Given the description of an element on the screen output the (x, y) to click on. 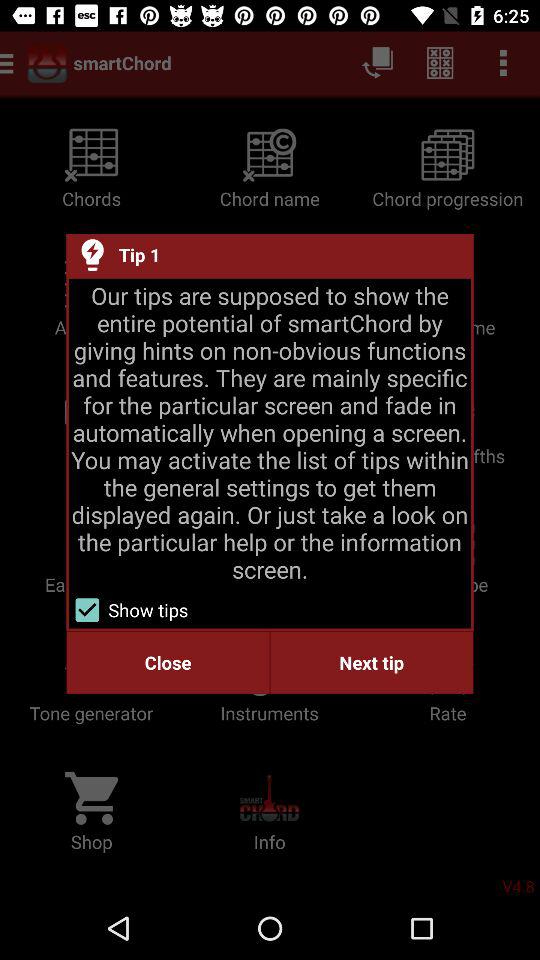
flip until close icon (168, 662)
